Given the description of an element on the screen output the (x, y) to click on. 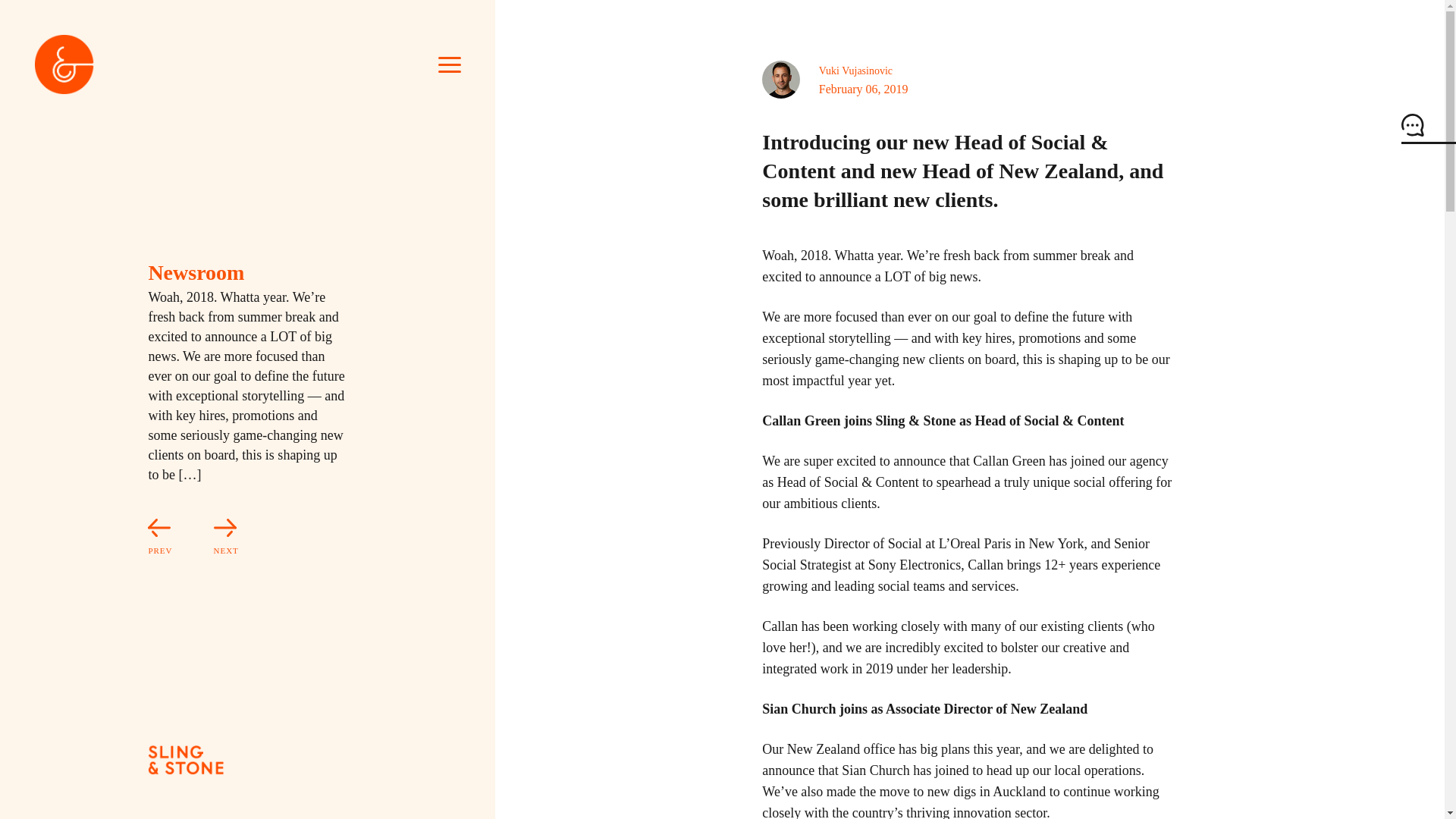
NEXT (207, 539)
